Given the description of an element on the screen output the (x, y) to click on. 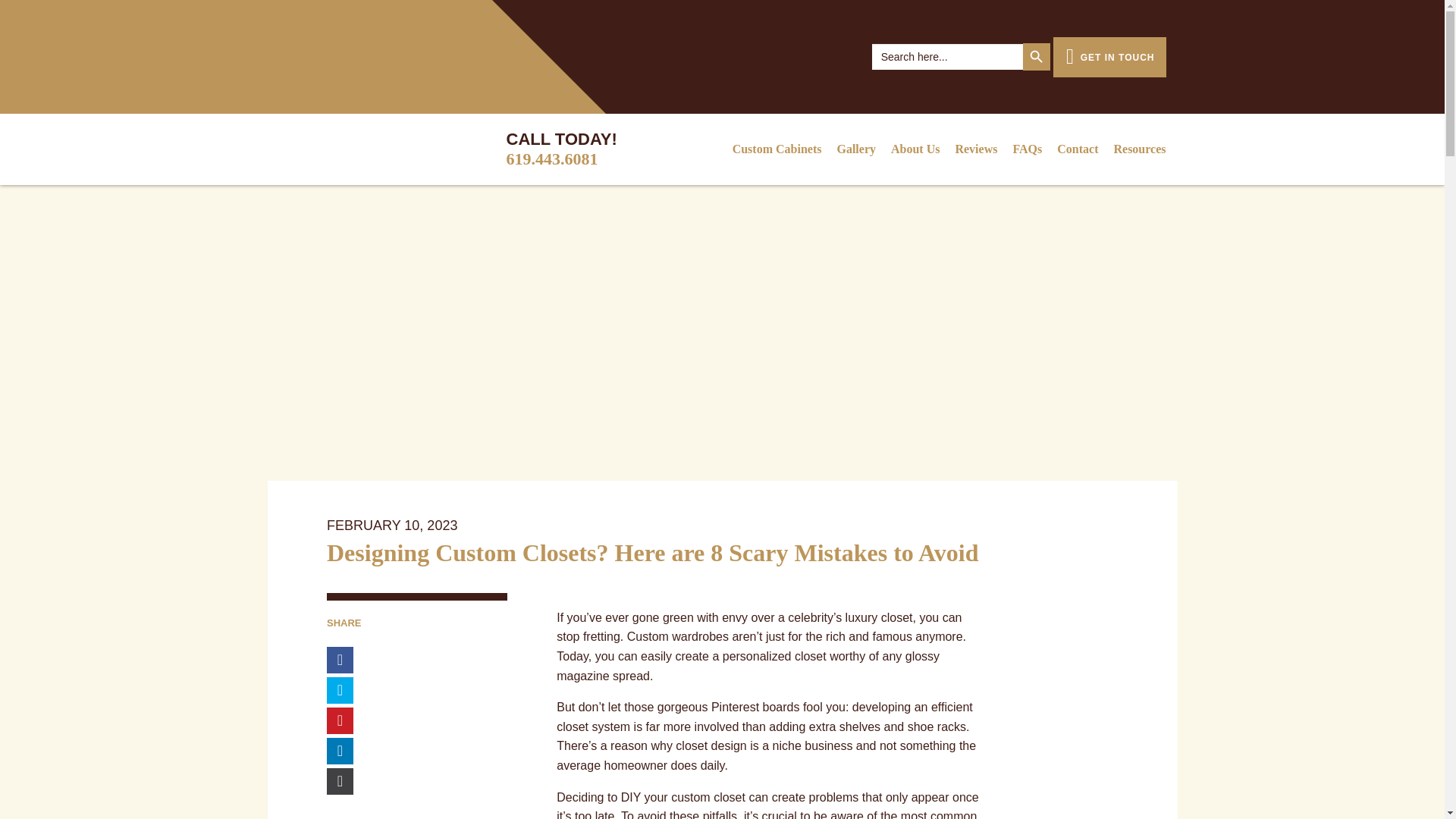
FAQs (1026, 149)
GET IN TOUCH (1109, 56)
Reviews (975, 149)
619.443.6081 (552, 158)
Custom Cabinets (777, 149)
Share on Pinterest (339, 720)
Search Button (1036, 56)
Gallery (855, 149)
Share via Email (339, 781)
Share on Twitter (339, 690)
Contact (1077, 149)
Share on LinkedIn (339, 750)
Share on Facebook (339, 660)
Resources (1135, 149)
About Us (915, 149)
